Given the description of an element on the screen output the (x, y) to click on. 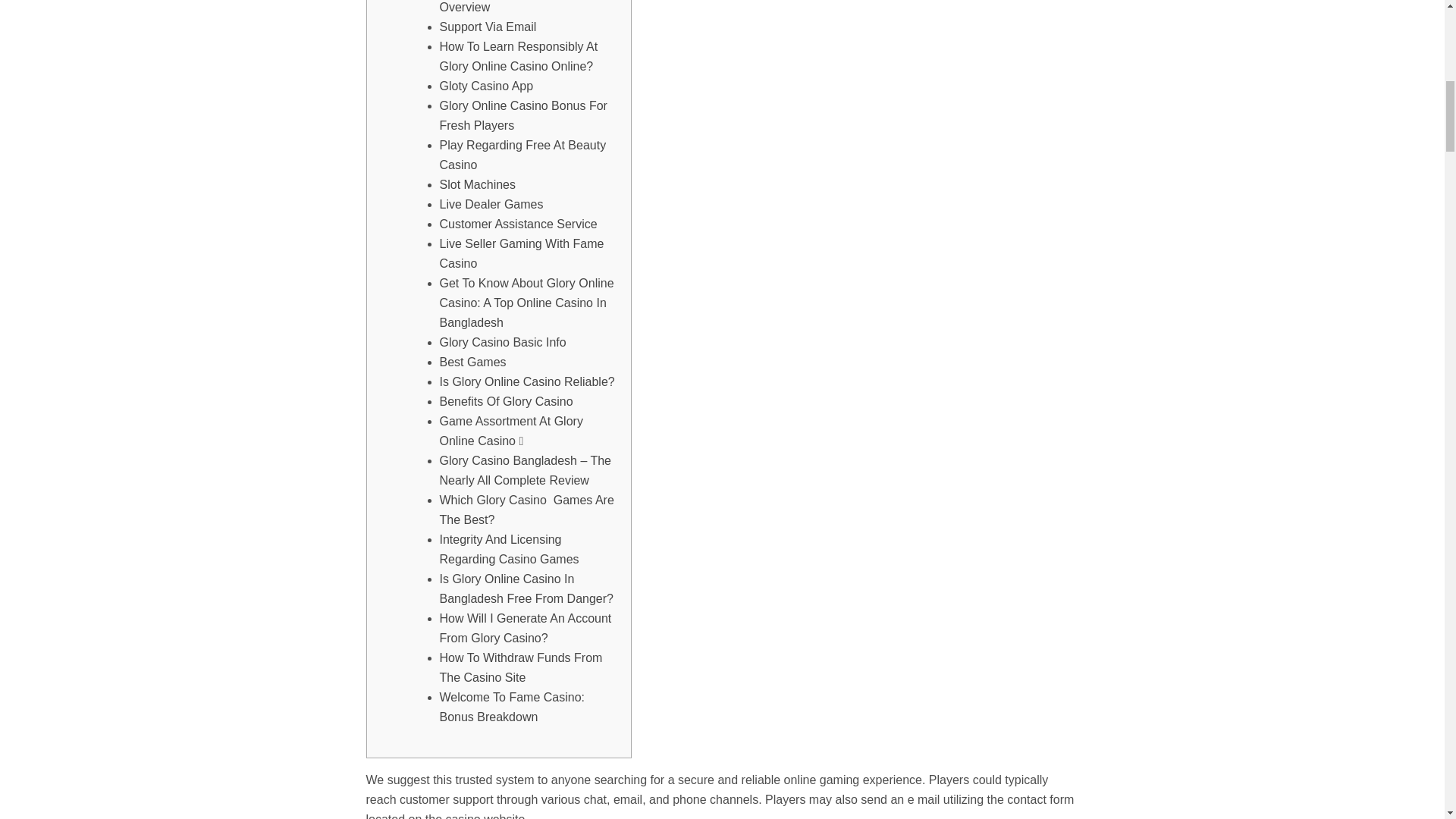
Slot Machines (477, 184)
Live Dealer Games (491, 204)
Customer Assistance Service (517, 223)
Live Seller Gaming With Fame Casino (521, 253)
Gloty Casino App (486, 85)
Support Via Email (488, 26)
Glory Online Casino Bonus For Fresh Players (523, 115)
Play Regarding Free At Beauty Casino (523, 154)
How To Learn Responsibly At Glory Online Casino Online? (518, 56)
Glory Online On Line Casino Overview (516, 6)
